Given the description of an element on the screen output the (x, y) to click on. 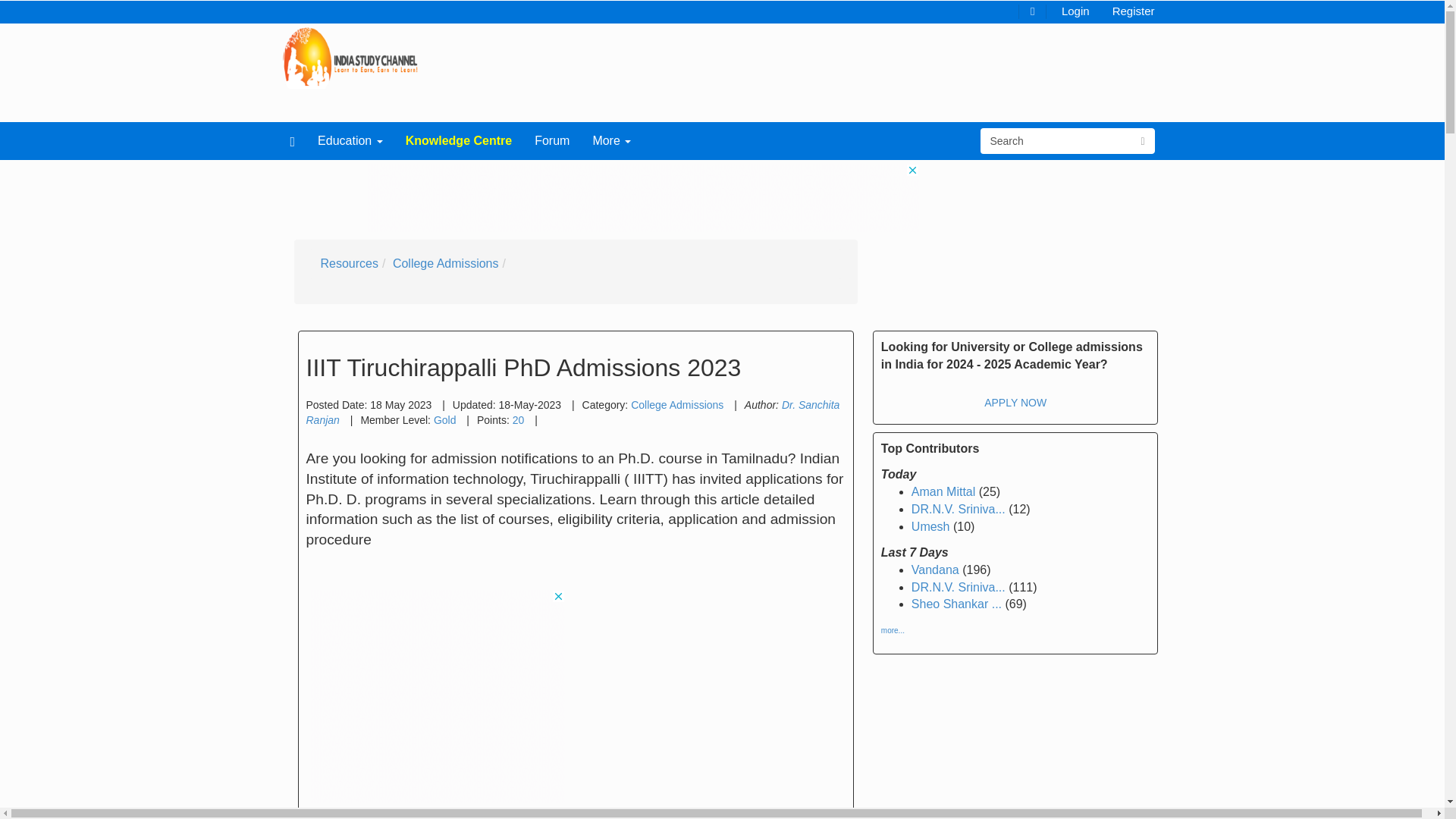
Education (349, 140)
Search (1055, 140)
Total Points: 9403 (445, 419)
3rd party ad content (436, 695)
Login (1074, 9)
Register (1133, 9)
3rd party ad content (642, 197)
